Given the description of an element on the screen output the (x, y) to click on. 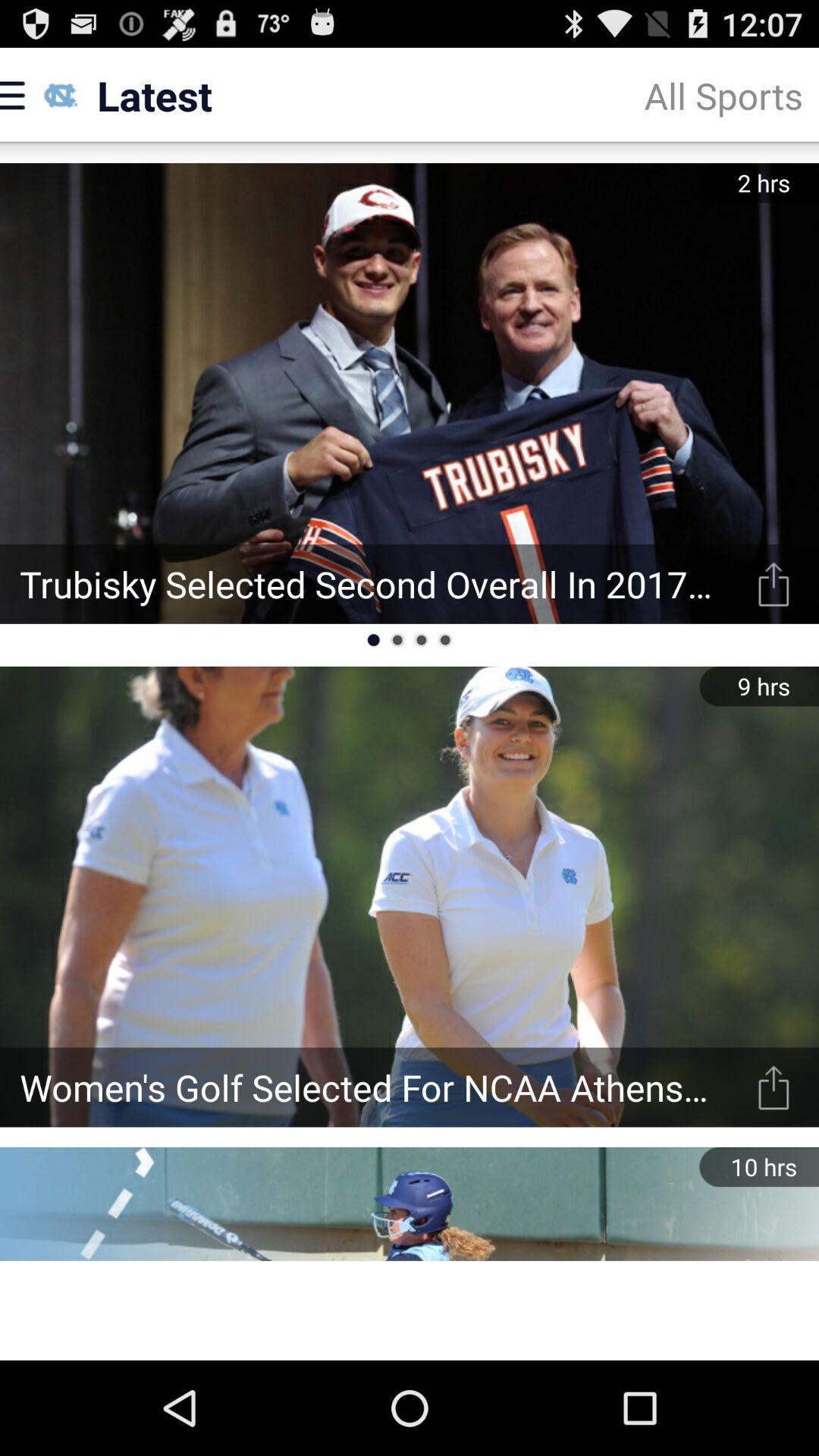
advertisement block (409, 1310)
